Given the description of an element on the screen output the (x, y) to click on. 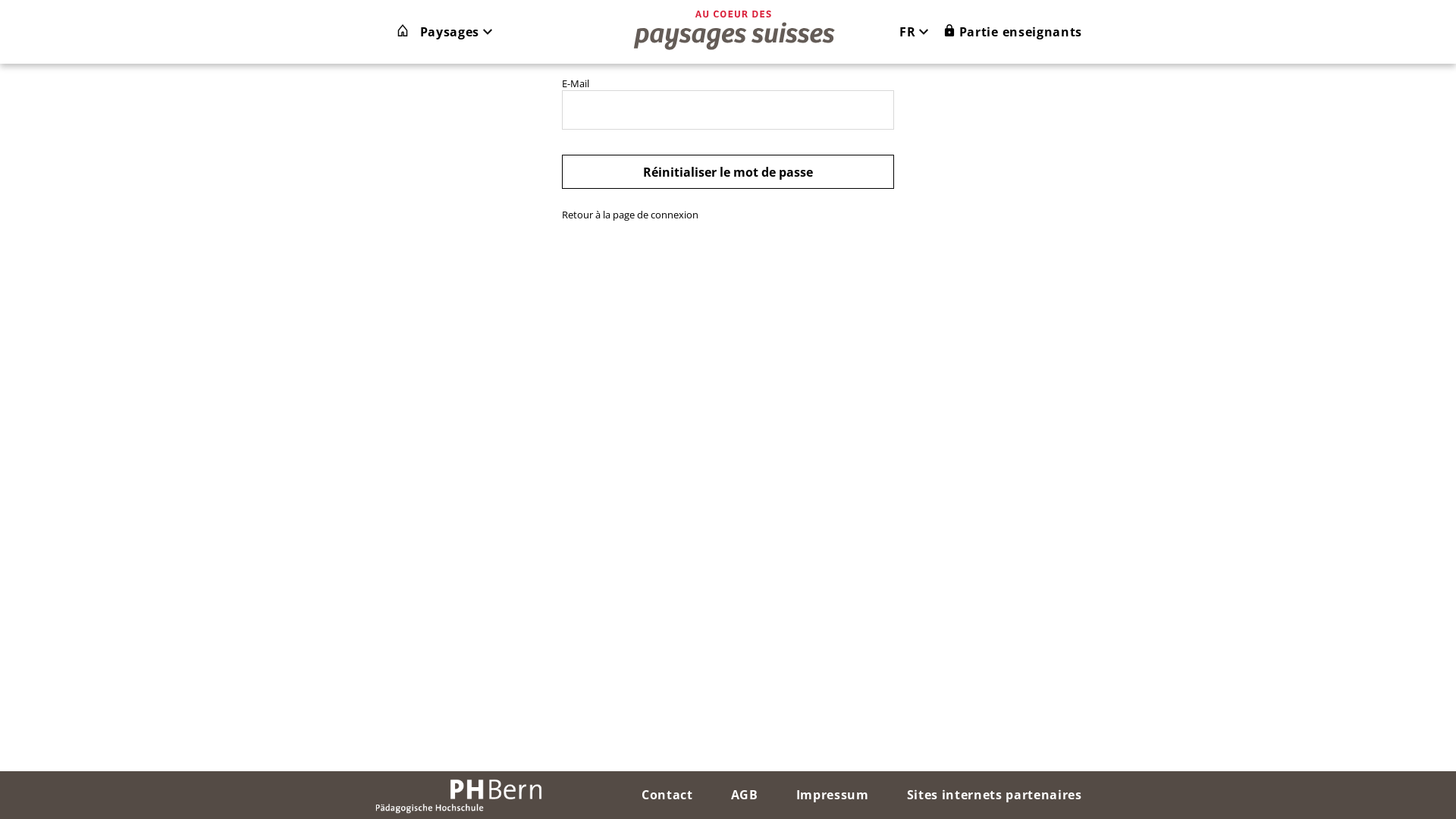
Sites internets partenaires Element type: text (994, 794)
Partie enseignants Element type: text (1012, 31)
Impressum Element type: text (832, 794)
FR Element type: text (921, 31)
Contact Element type: text (667, 794)
AGB Element type: text (744, 794)
Paysages Element type: text (456, 31)
